Given the description of an element on the screen output the (x, y) to click on. 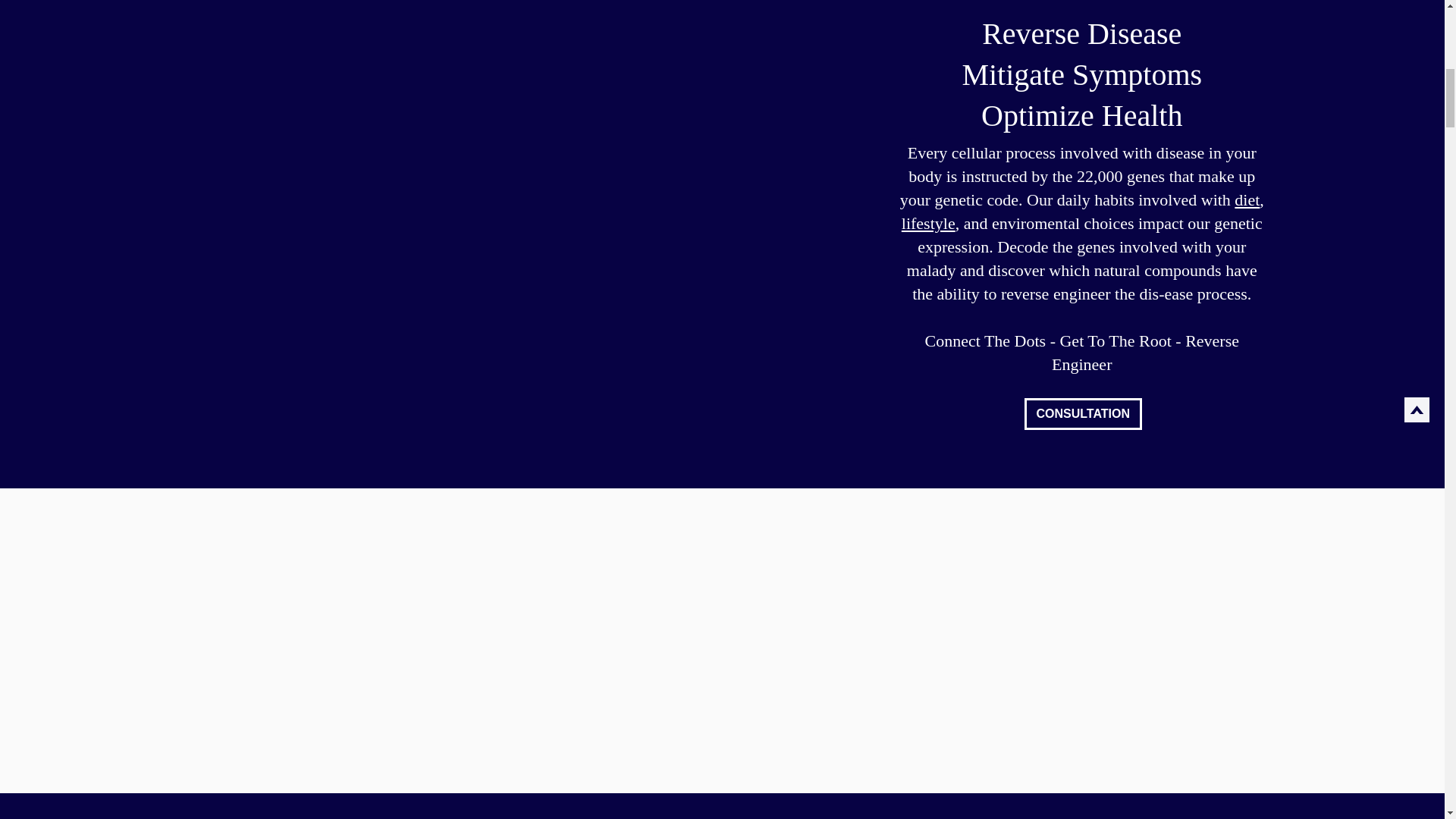
diet (1246, 199)
lifestyle (928, 222)
CONSULTATION (1083, 413)
